Given the description of an element on the screen output the (x, y) to click on. 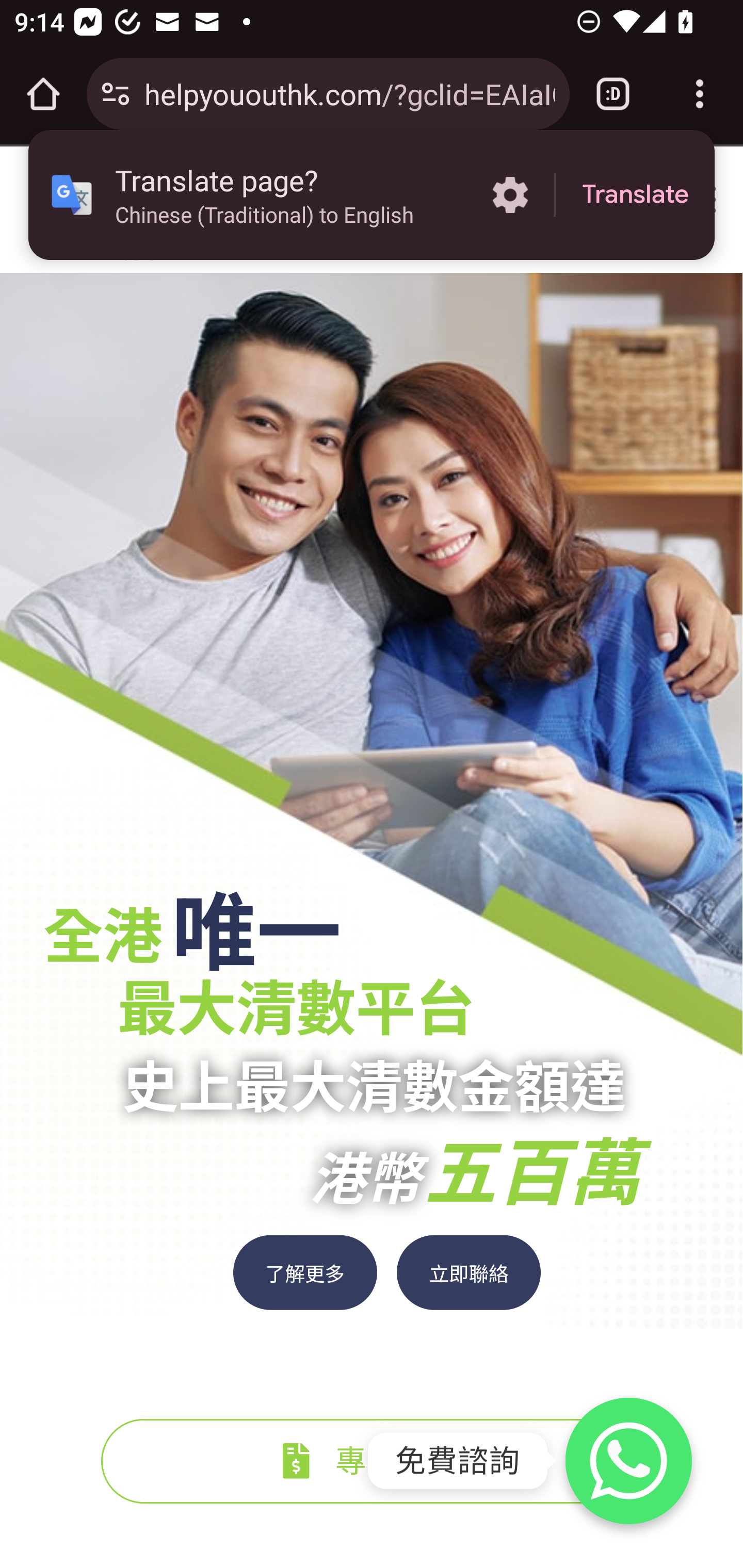
Open the home page (43, 93)
Connection is secure (115, 93)
Switch or close tabs (612, 93)
Customize and control Google Chrome (699, 93)
Translate (634, 195)
More options in the Translate page? (509, 195)
Whatsapp 免費諮詢 (628, 1461)
專業清數 專業清數  專業清數 (371, 1461)
